Given the description of an element on the screen output the (x, y) to click on. 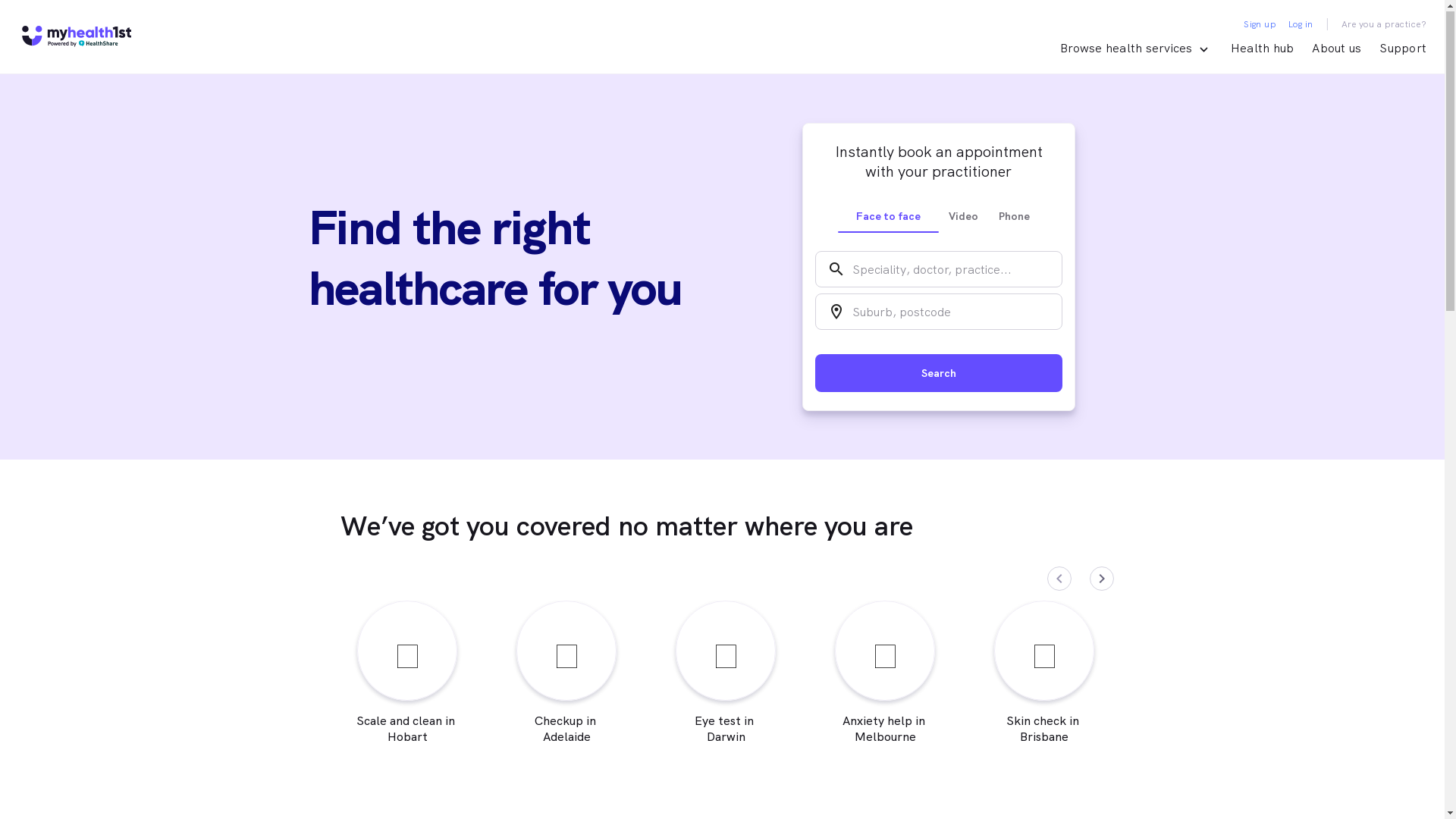
Log in Element type: text (1300, 24)
navigate_before Element type: text (1058, 579)
navigate_next Element type: text (1100, 579)
Health hub Element type: text (1262, 48)
Face to face Element type: text (887, 216)
Are you a practice? Element type: text (1383, 24)
Video Element type: text (963, 216)
Sign up Element type: text (1259, 24)
Search Element type: text (937, 373)
About us Element type: text (1336, 48)
Phone Element type: text (1013, 216)
Support Element type: text (1402, 48)
